Given the description of an element on the screen output the (x, y) to click on. 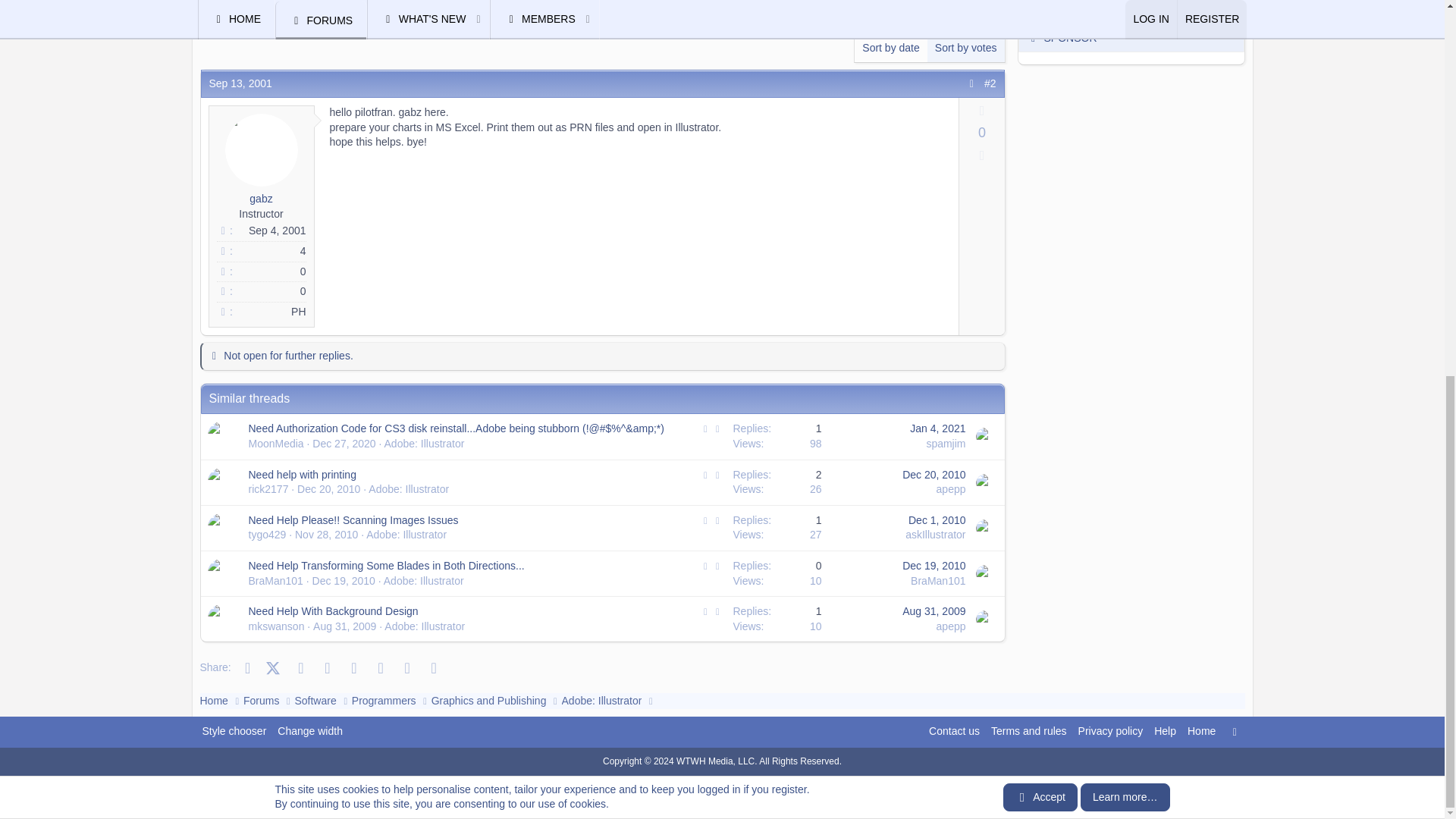
Dec 27, 2020 at 12:43 AM (344, 443)
Jan 4, 2021 at 9:58 AM (937, 428)
First message reaction score: 0 (777, 436)
First message reaction score: 0 (777, 482)
Dec 20, 2010 at 3:55 PM (933, 474)
Dec 20, 2010 at 5:49 AM (328, 489)
Sep 13, 2001 at 8:01 PM (240, 82)
Nov 28, 2010 at 11:38 AM (326, 534)
